Given the description of an element on the screen output the (x, y) to click on. 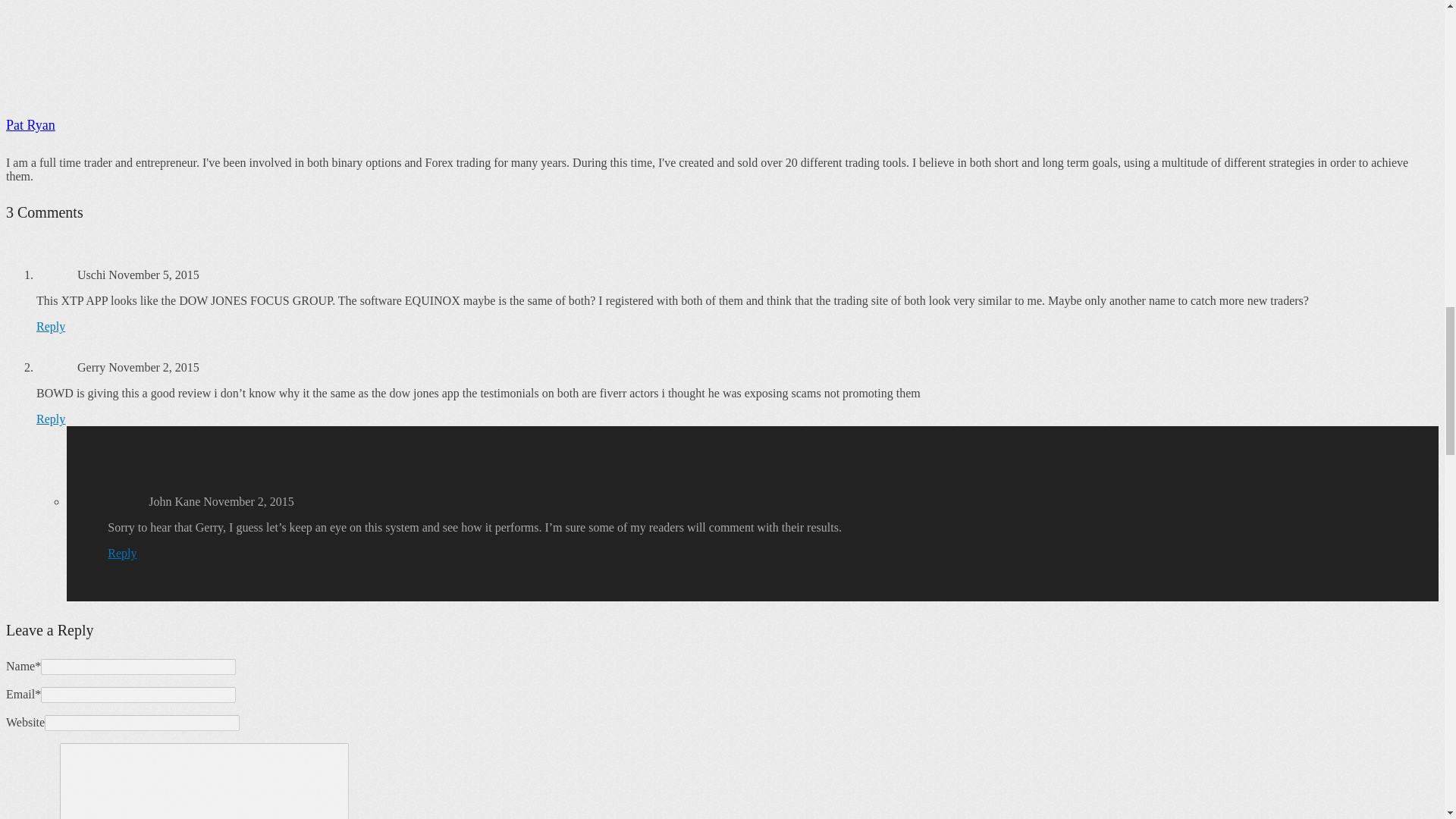
Reply (50, 326)
Reply (121, 553)
Reply (50, 418)
Pat Ryan (30, 124)
